Given the description of an element on the screen output the (x, y) to click on. 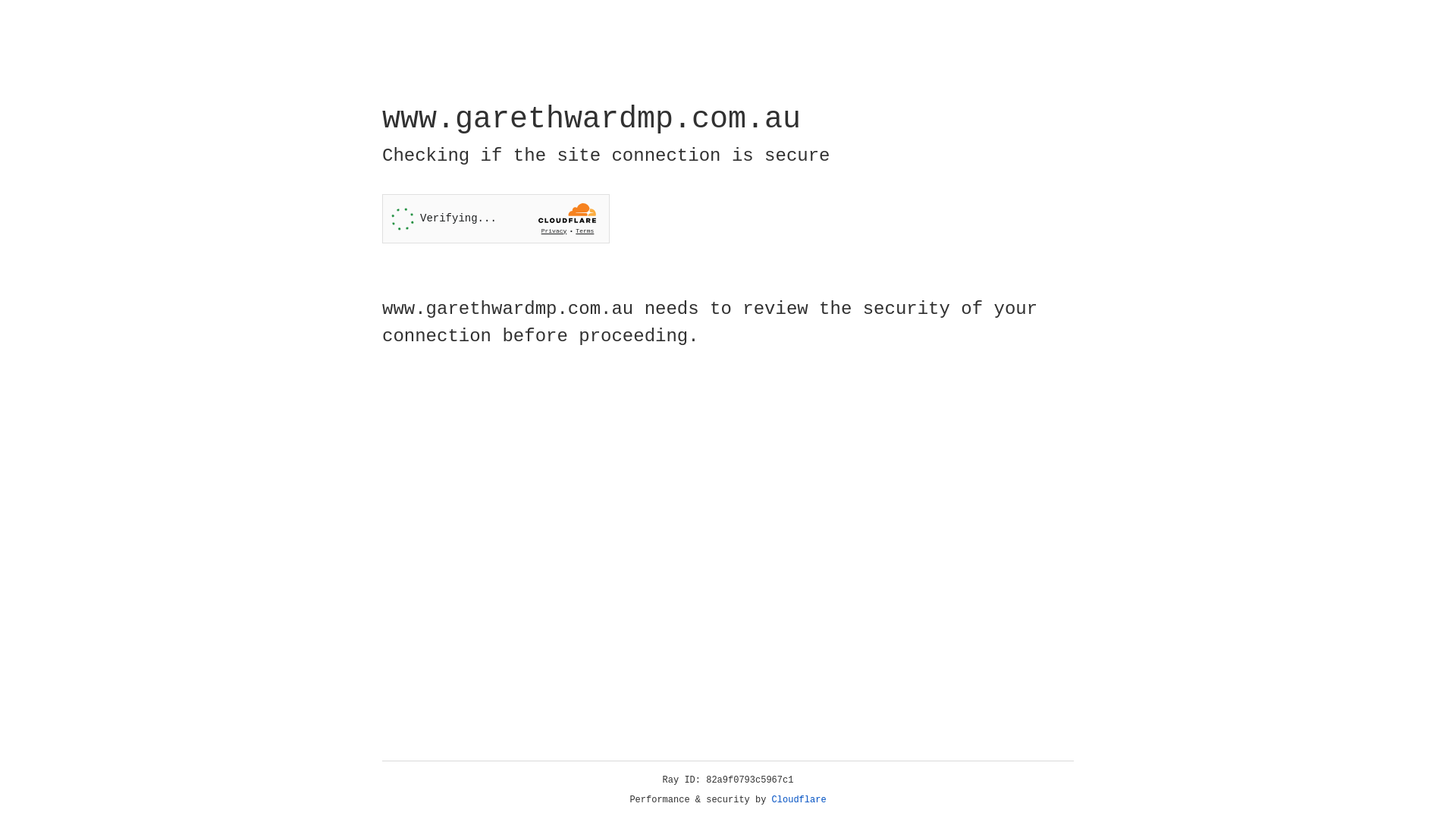
Cloudflare Element type: text (798, 799)
Widget containing a Cloudflare security challenge Element type: hover (495, 218)
